Given the description of an element on the screen output the (x, y) to click on. 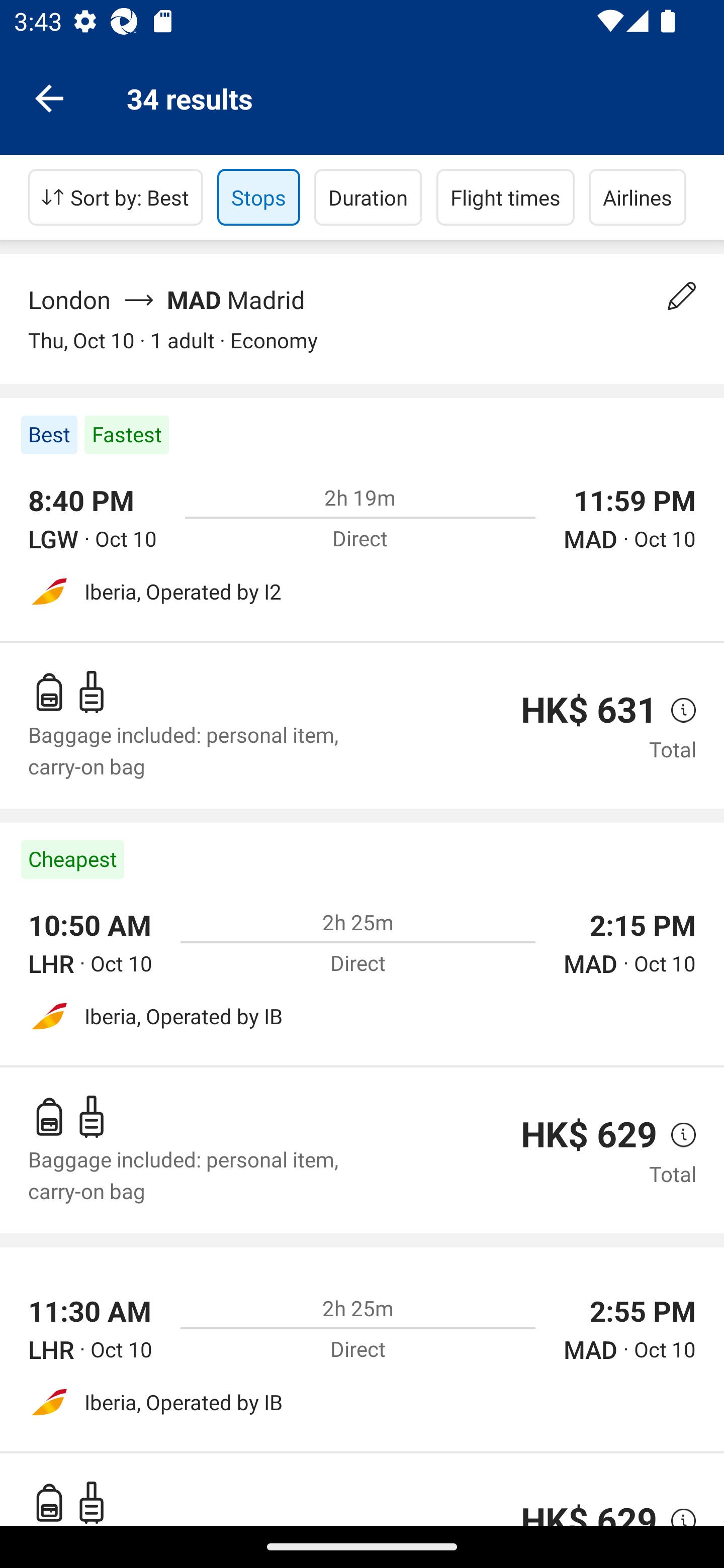
Navigate up (49, 97)
Sort by: Best (115, 197)
Stops (258, 197)
Duration (368, 197)
Flight times (505, 197)
Airlines (637, 197)
Change your search details (681, 296)
HK$ 631 (588, 710)
view price details, opens a pop-up (676, 709)
HK$ 629 (588, 1134)
view price details, opens a pop-up (676, 1134)
